Given the description of an element on the screen output the (x, y) to click on. 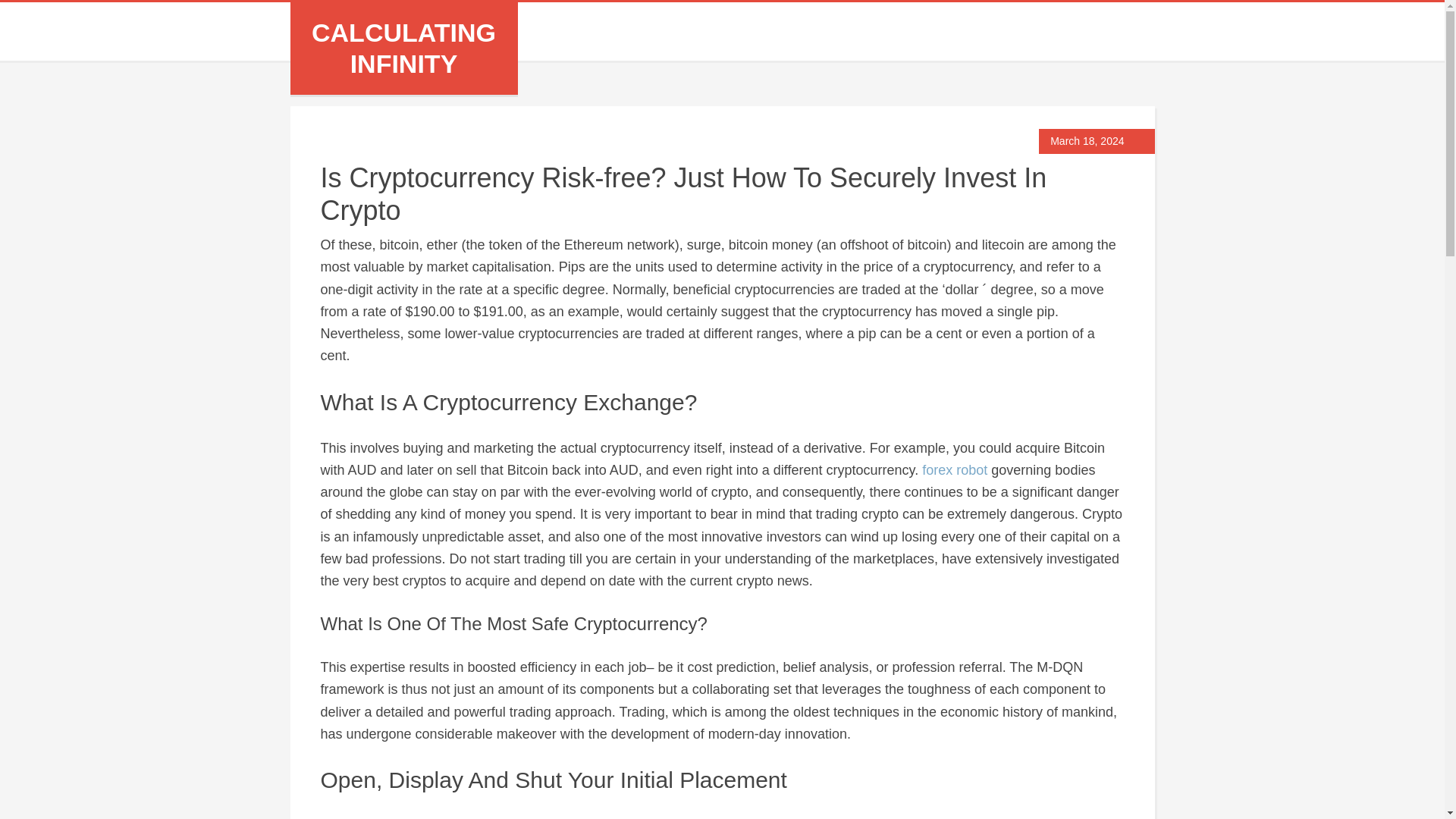
forex robot (954, 469)
CALCULATING INFINITY (403, 47)
